Given the description of an element on the screen output the (x, y) to click on. 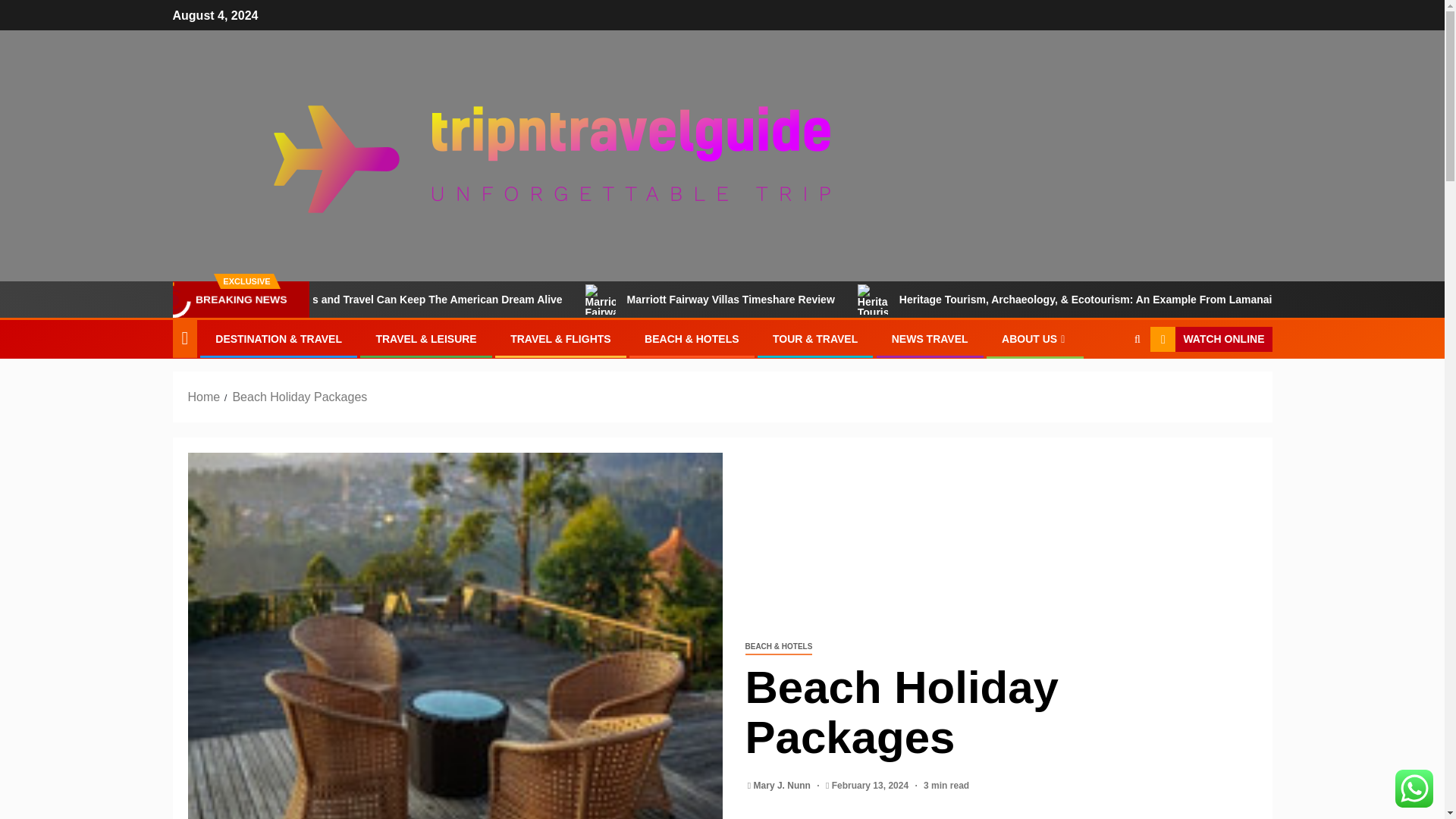
NEWS TRAVEL (929, 338)
ABOUT US (1034, 338)
Search (1107, 385)
Marriott Fairway Villas Timeshare Review (840, 299)
Mary J. Nunn (783, 785)
Home (204, 396)
WATCH ONLINE (1210, 339)
Beach Holiday Packages (298, 396)
